Given the description of an element on the screen output the (x, y) to click on. 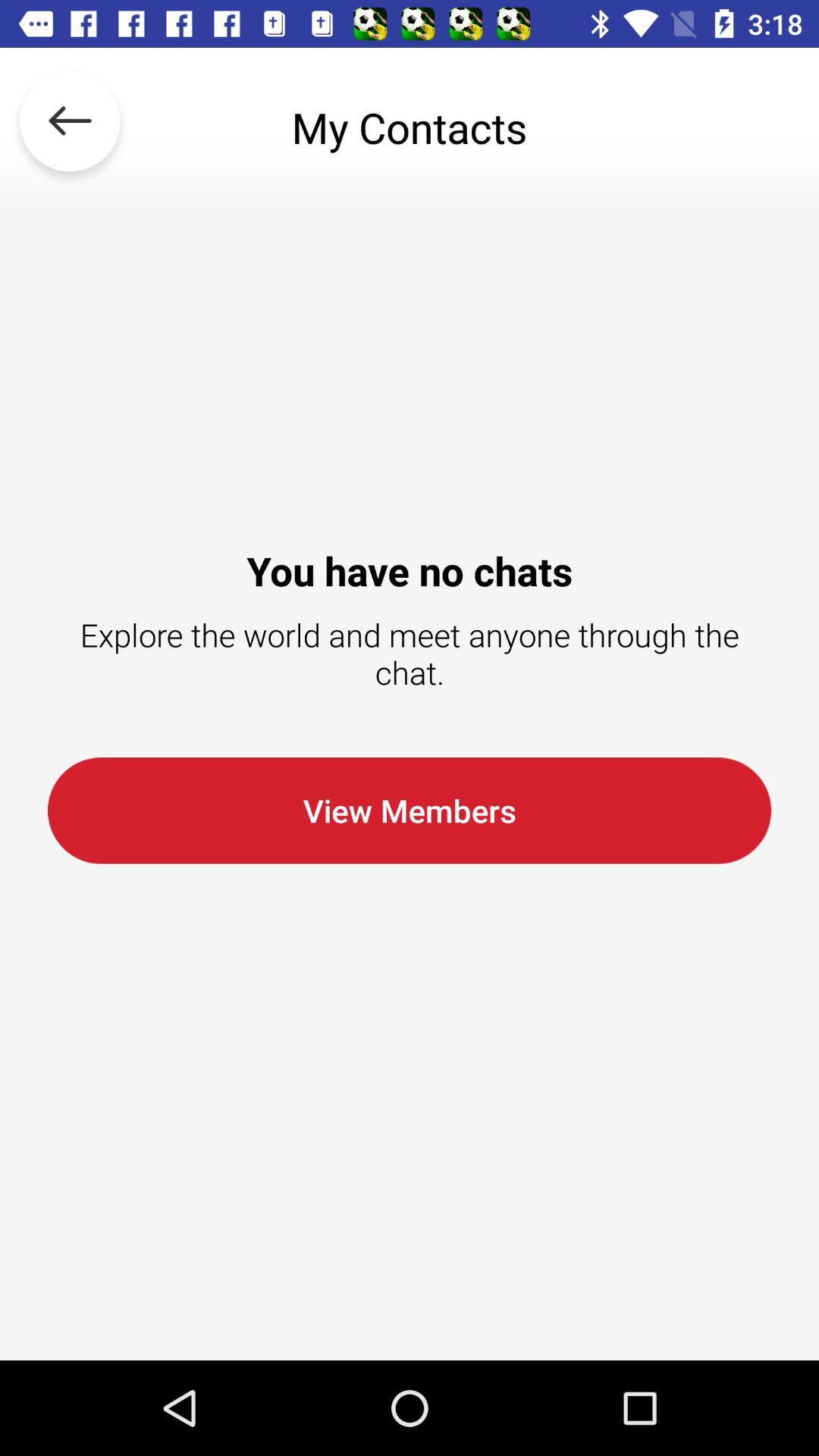
open the icon to the left of my contacts icon (69, 127)
